Given the description of an element on the screen output the (x, y) to click on. 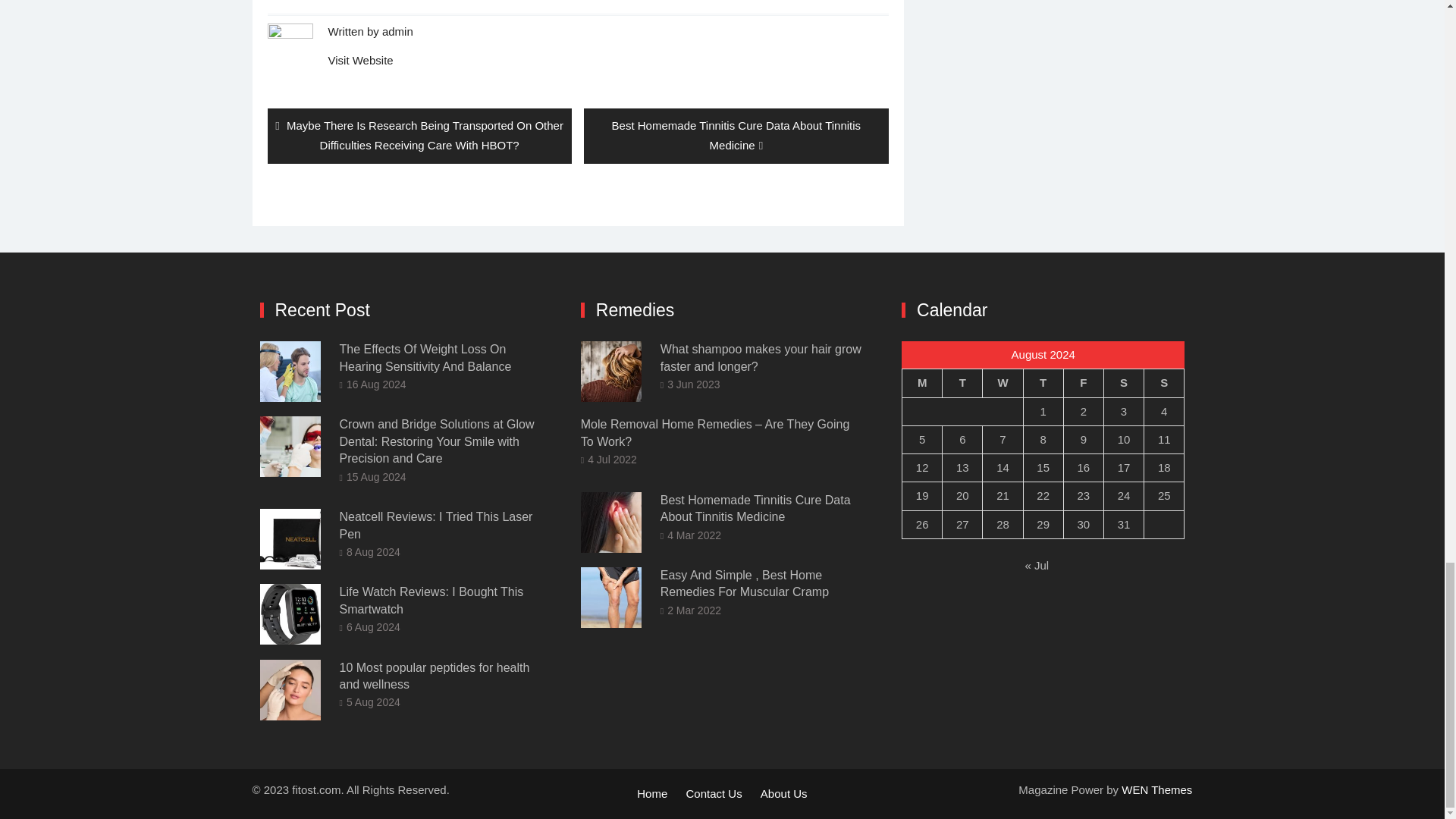
Posts by admin (397, 31)
Monday (922, 383)
Sunday (1164, 383)
Friday (1082, 383)
Wednesday (1002, 383)
Thursday (1042, 383)
admin (397, 31)
Visit Website (360, 60)
Tuesday (962, 383)
Saturday (1122, 383)
